Given the description of an element on the screen output the (x, y) to click on. 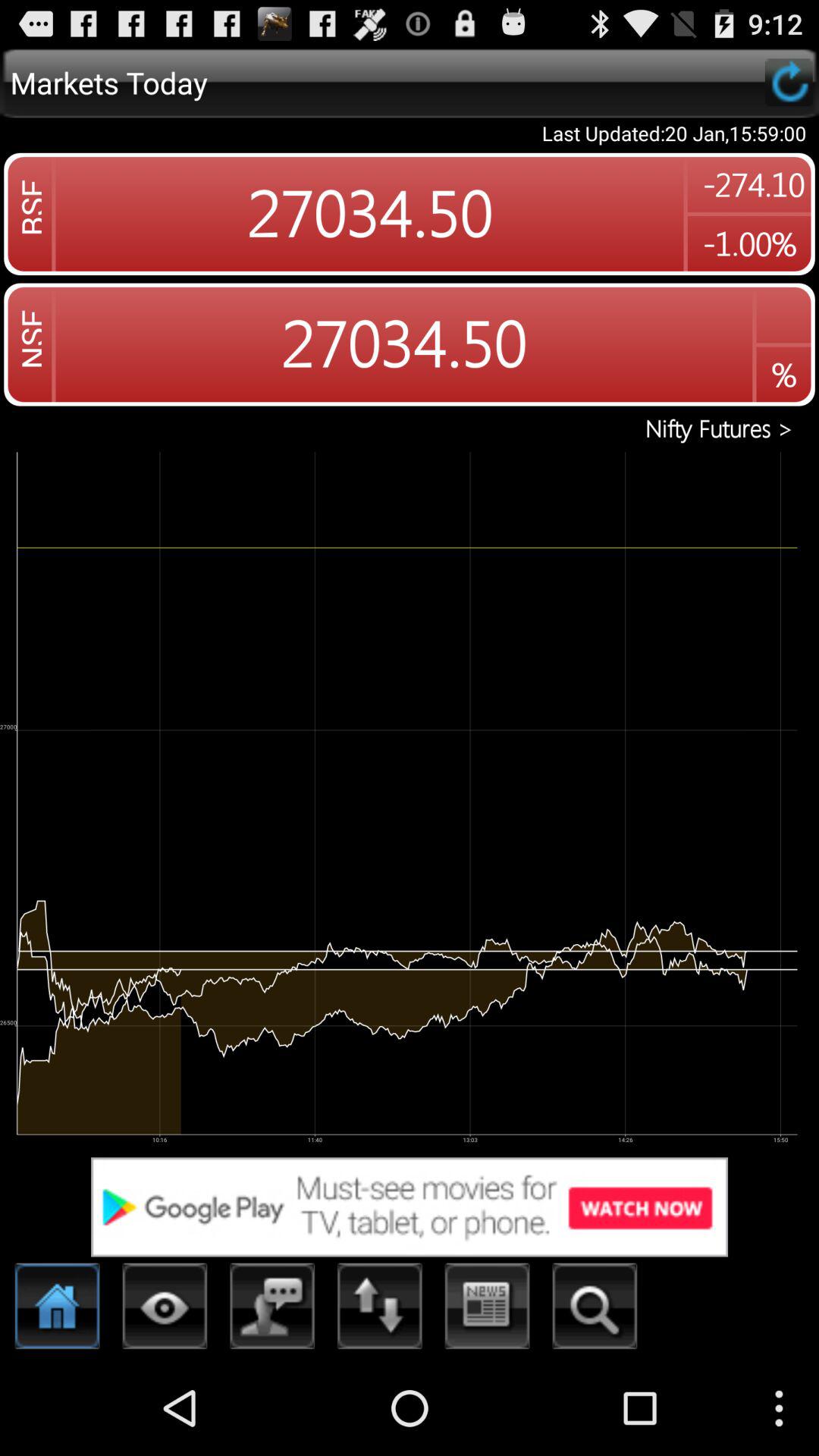
contact (272, 1310)
